Given the description of an element on the screen output the (x, y) to click on. 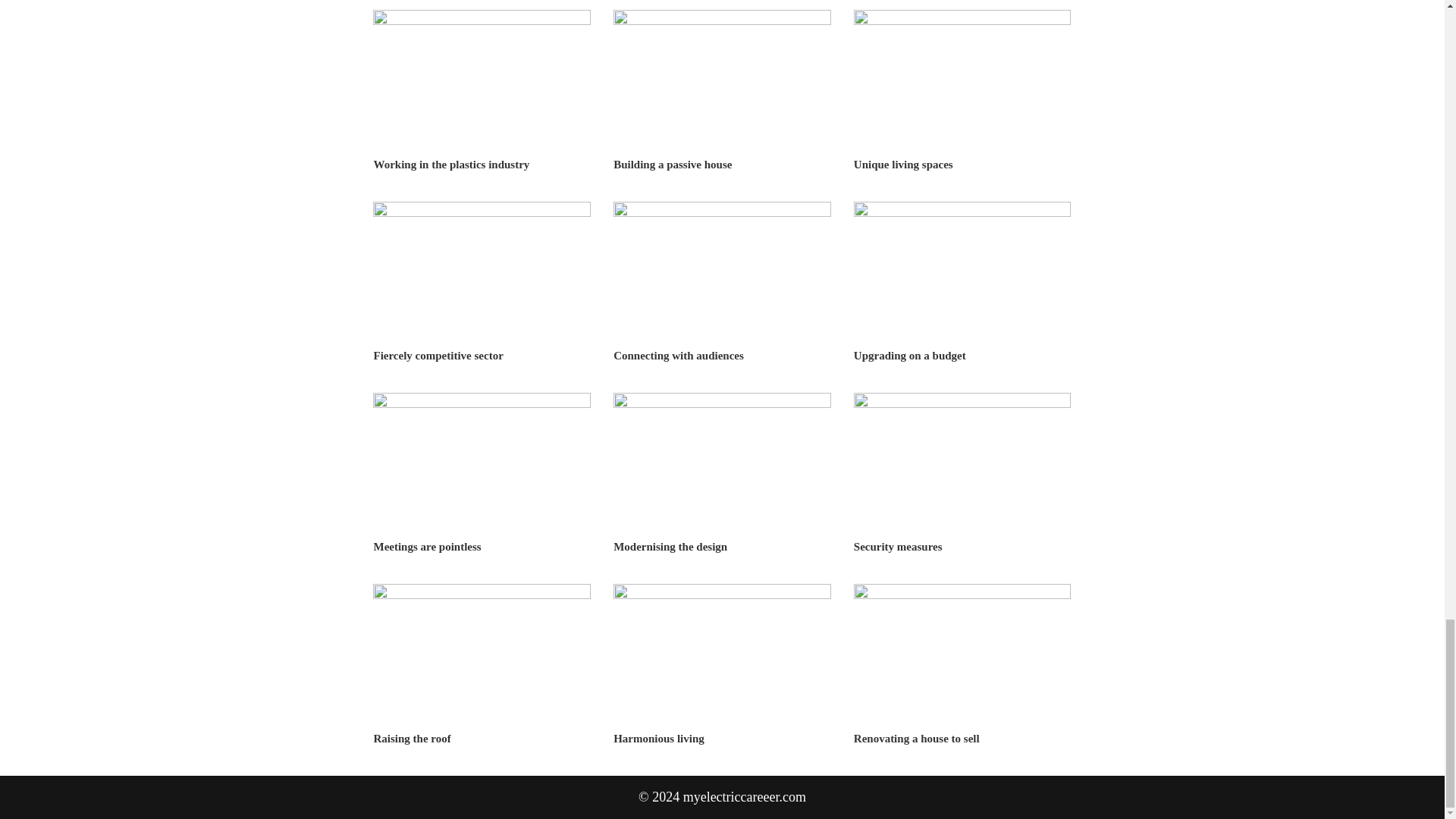
Fiercely competitive sector (437, 355)
Unique living spaces (903, 164)
Working in the plastics industry (450, 164)
Building a passive house (672, 164)
